Given the description of an element on the screen output the (x, y) to click on. 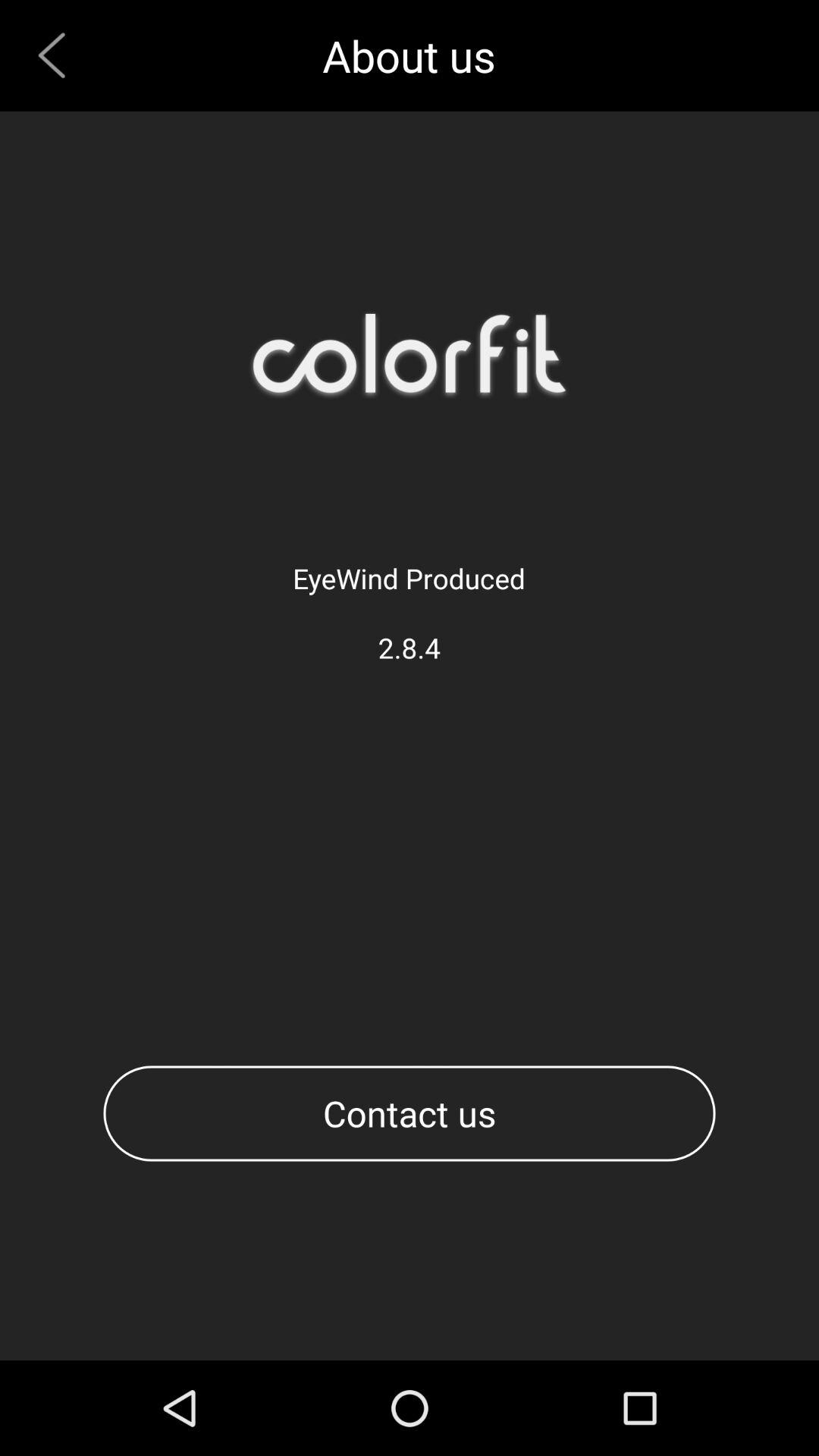
go to previous (57, 55)
